Given the description of an element on the screen output the (x, y) to click on. 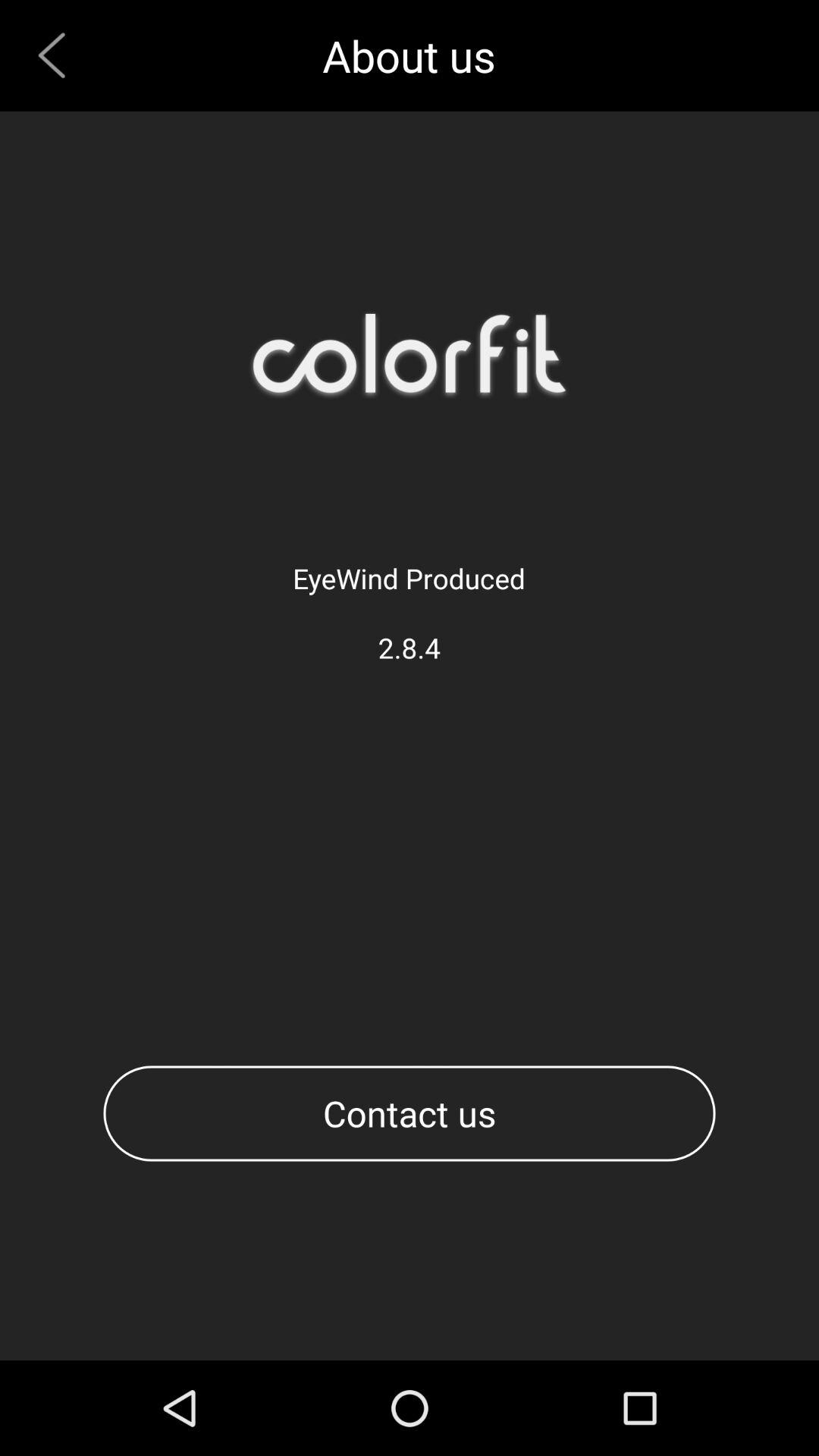
go to previous (57, 55)
